Given the description of an element on the screen output the (x, y) to click on. 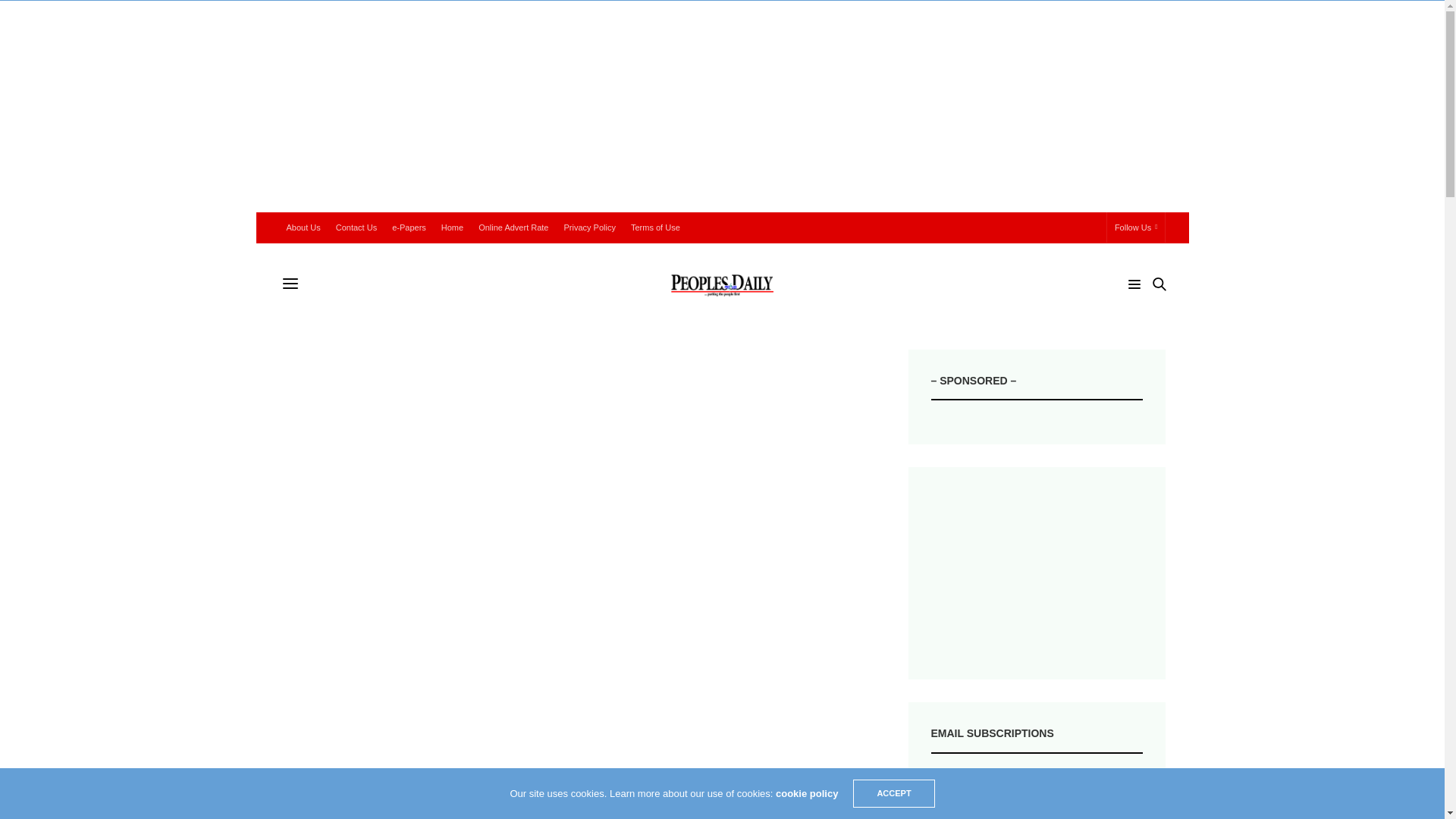
Home (451, 227)
Advertisement (571, 692)
e-Papers (408, 227)
Advertisement (1037, 572)
Online Advert Rate (513, 227)
Follow Us (1136, 227)
Privacy Policy (589, 227)
Terms of Use (655, 227)
Contact Us (356, 227)
About Us (304, 227)
Search (1137, 312)
